Given the description of an element on the screen output the (x, y) to click on. 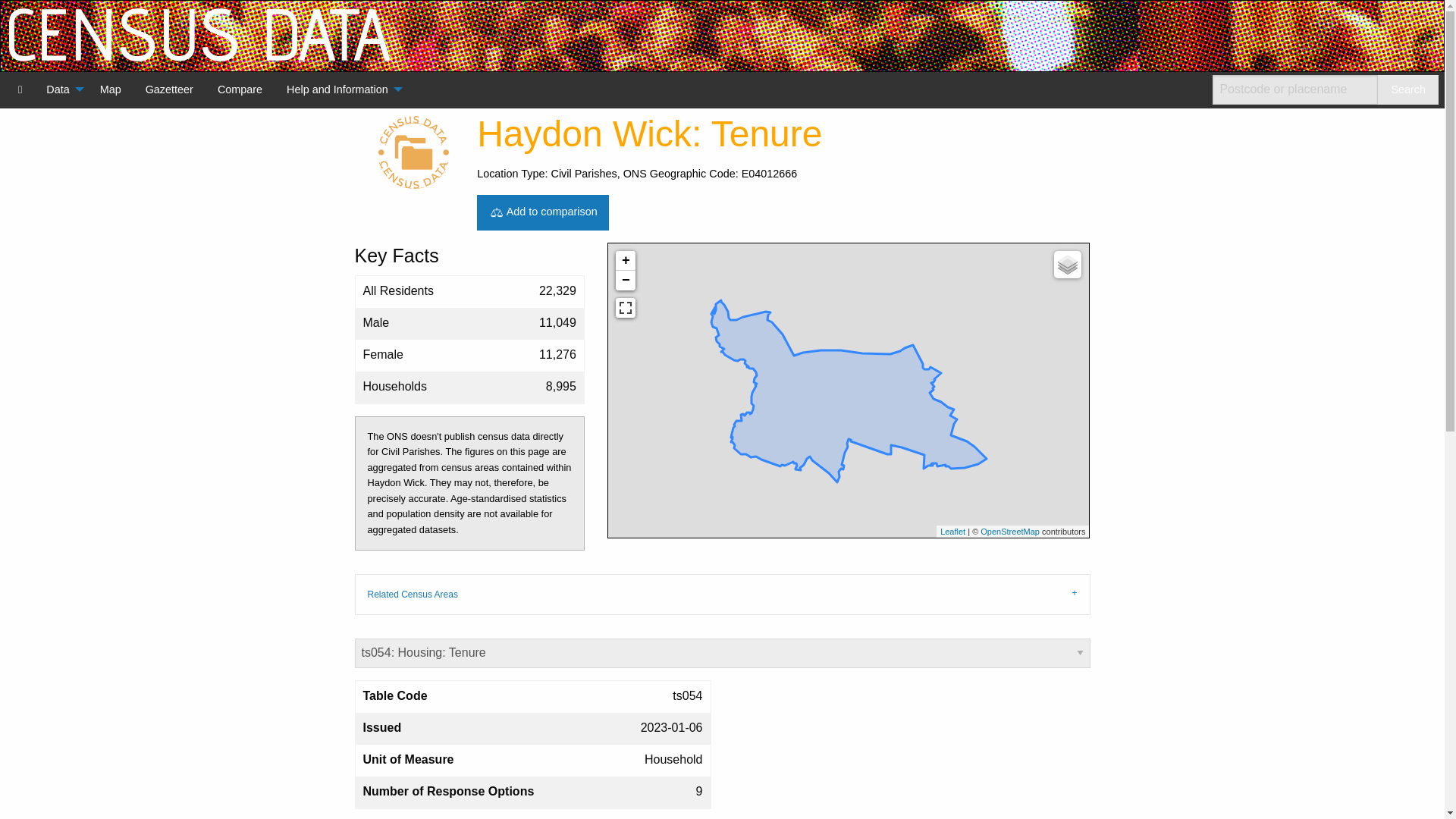
Related Census Areas (722, 594)
View Fullscreen (624, 307)
Map (110, 90)
Zoom out (624, 280)
Gazetteer (169, 90)
Census Data (19, 90)
A JS library for interactive maps (952, 531)
Search (1407, 89)
Data (60, 90)
Leaflet (952, 531)
Layers (1067, 264)
Help and Information (340, 90)
Zoom in (624, 260)
Search (1407, 89)
OpenStreetMap (1009, 531)
